Given the description of an element on the screen output the (x, y) to click on. 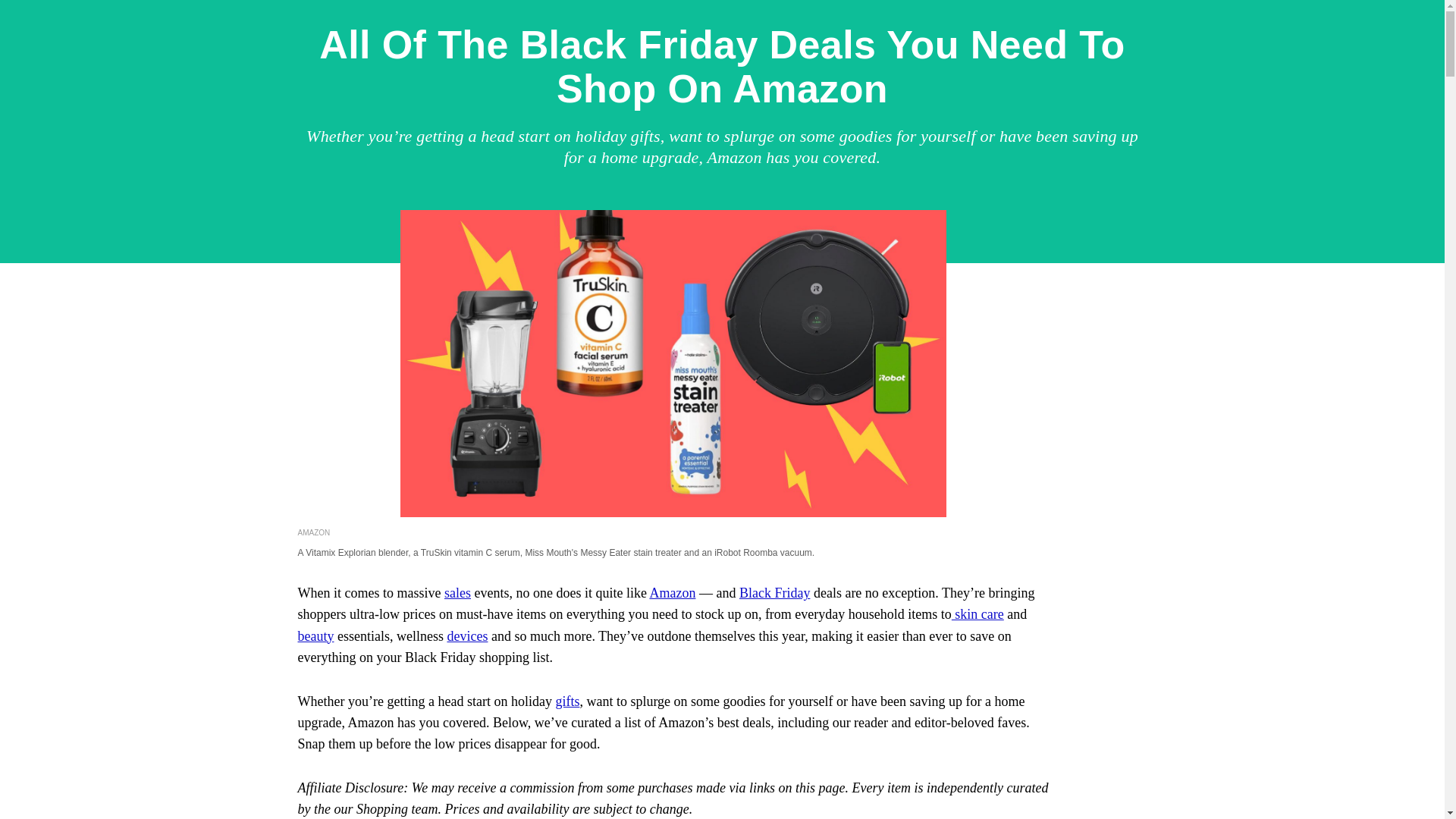
gifts Element type: text (567, 701)
Amazon Element type: text (672, 592)
skin care Element type: text (977, 613)
beauty Element type: text (315, 635)
devices Element type: text (466, 635)
Black Friday Element type: text (774, 592)
sales Element type: text (457, 592)
